Given the description of an element on the screen output the (x, y) to click on. 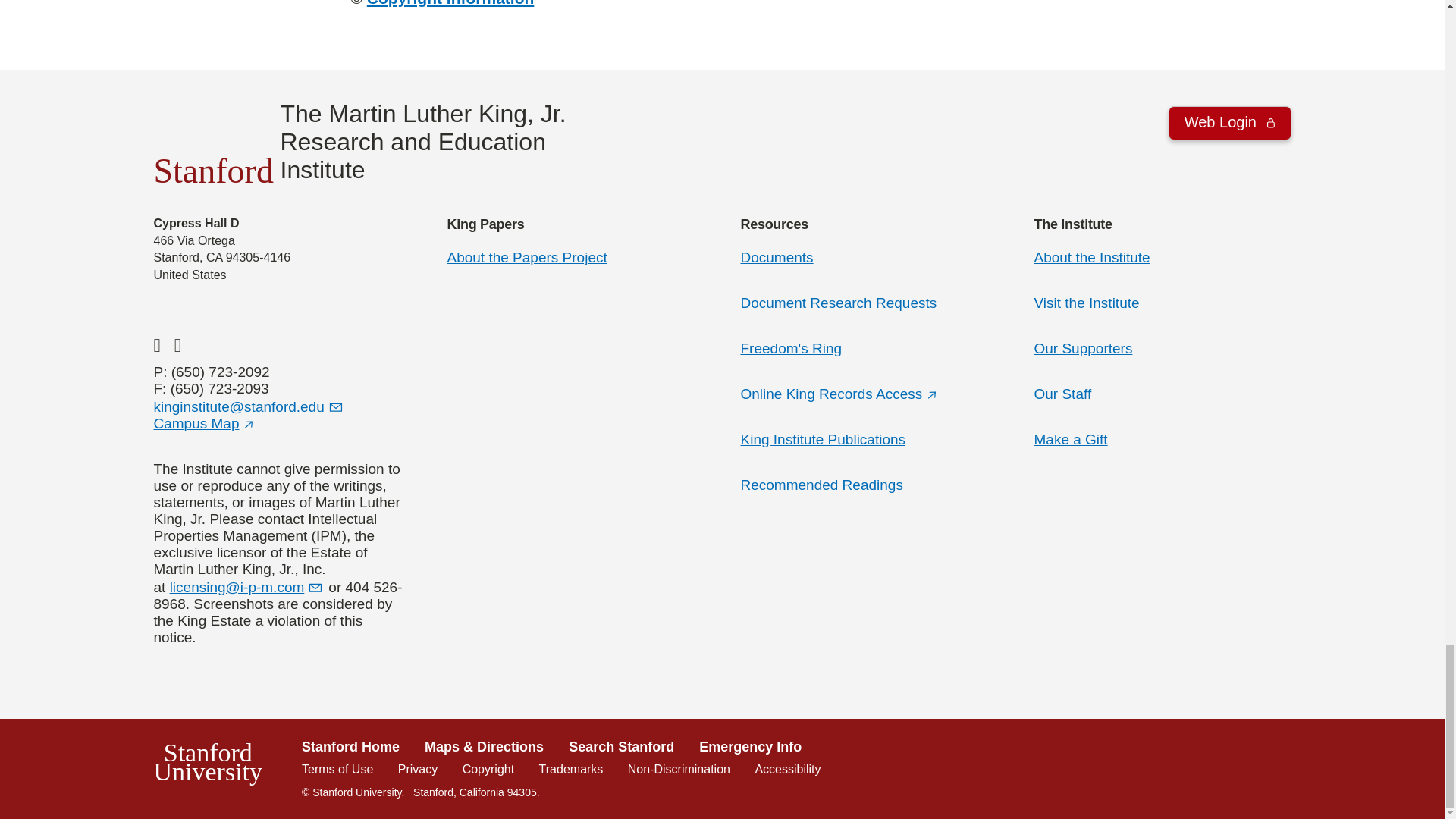
Ownership and use of Stanford trademarks and images (571, 768)
Terms of use for sites (336, 768)
Report web accessibility issues (787, 768)
Document Research Requests (450, 3)
Documents (775, 257)
King Institute Publications (822, 439)
Our Supporters (1082, 348)
Privacy and cookie policy (417, 768)
Freedom's Ring "I Have a Dream" Speech (790, 348)
Our Staff (1062, 393)
